Given the description of an element on the screen output the (x, y) to click on. 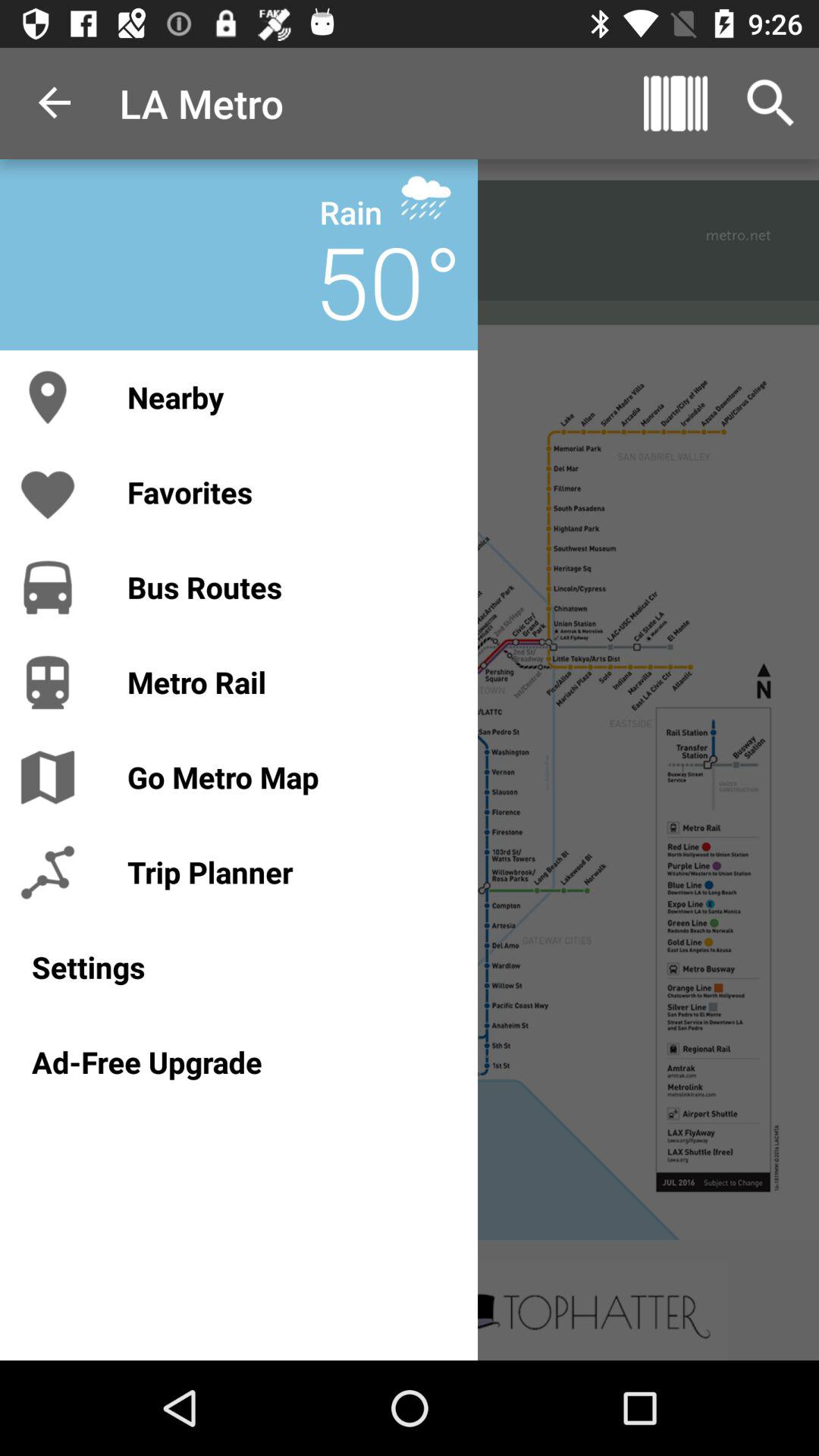
press the icon to the left of la metro item (55, 103)
